Given the description of an element on the screen output the (x, y) to click on. 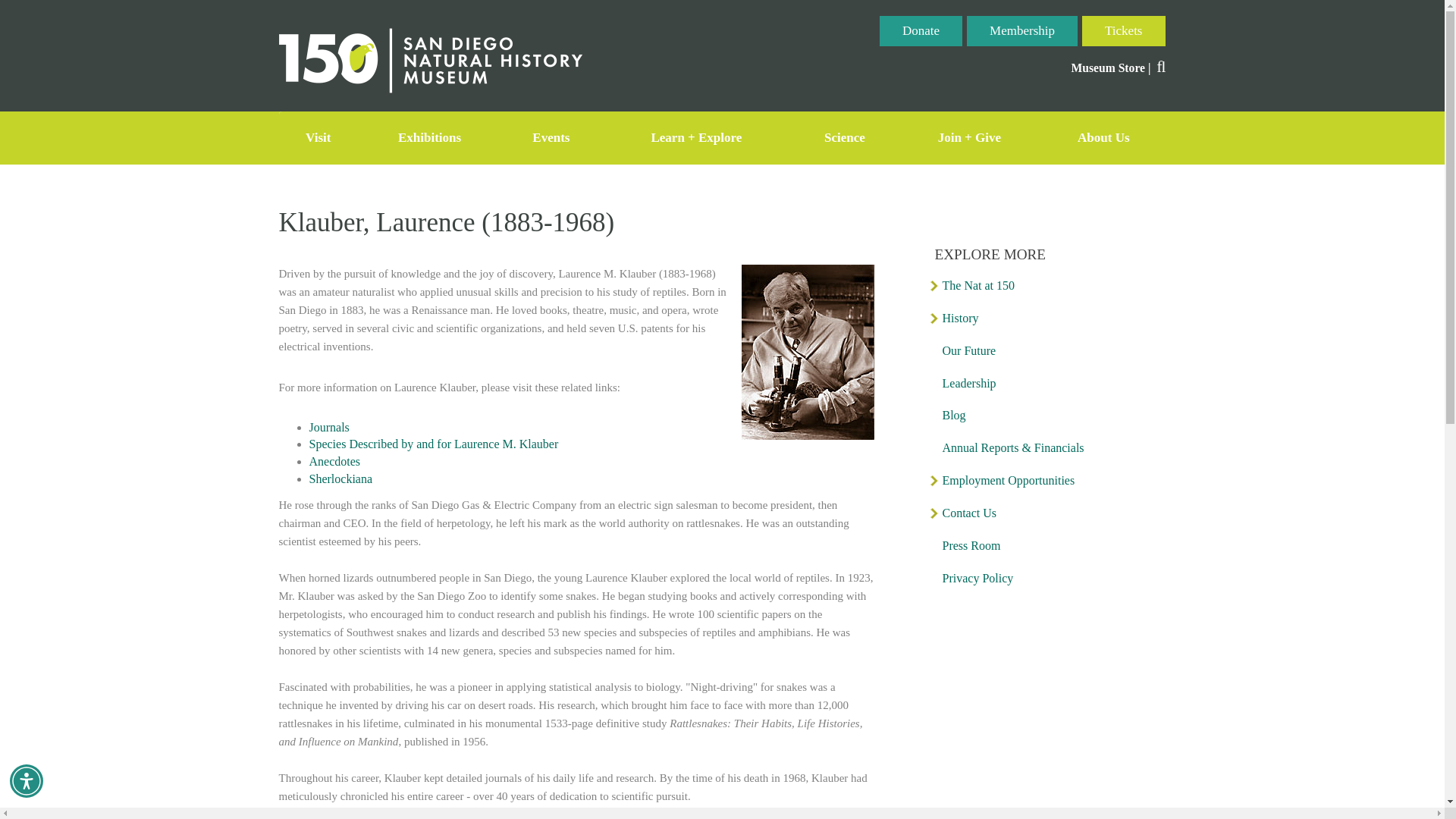
Events (549, 137)
Donate (920, 30)
Anecdotes (334, 461)
Museum Store (1107, 67)
Tickets (1123, 30)
Visit (318, 137)
Species Described by and for Laurence M. Klauber (433, 443)
Sherlockiana (340, 478)
Exhibitions (429, 137)
Accessibility Menu (26, 780)
Membership (1022, 30)
Science (844, 137)
Journals (328, 426)
